Given the description of an element on the screen output the (x, y) to click on. 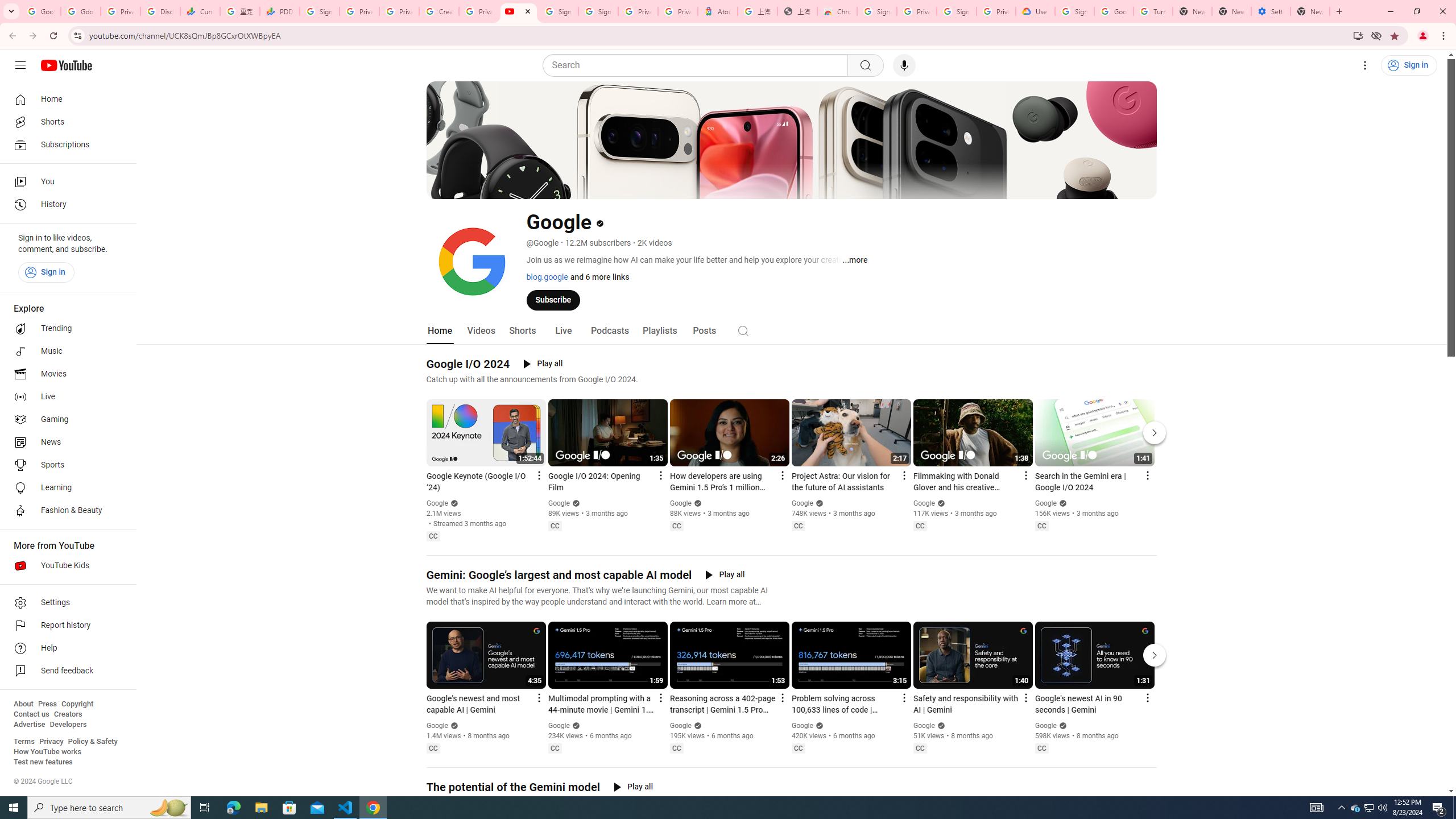
Shorts (64, 121)
Guide (20, 65)
Verified (1061, 725)
Subscribe (552, 299)
Sign in - Google Accounts (956, 11)
Developers (68, 724)
Settings (1365, 65)
